Given the description of an element on the screen output the (x, y) to click on. 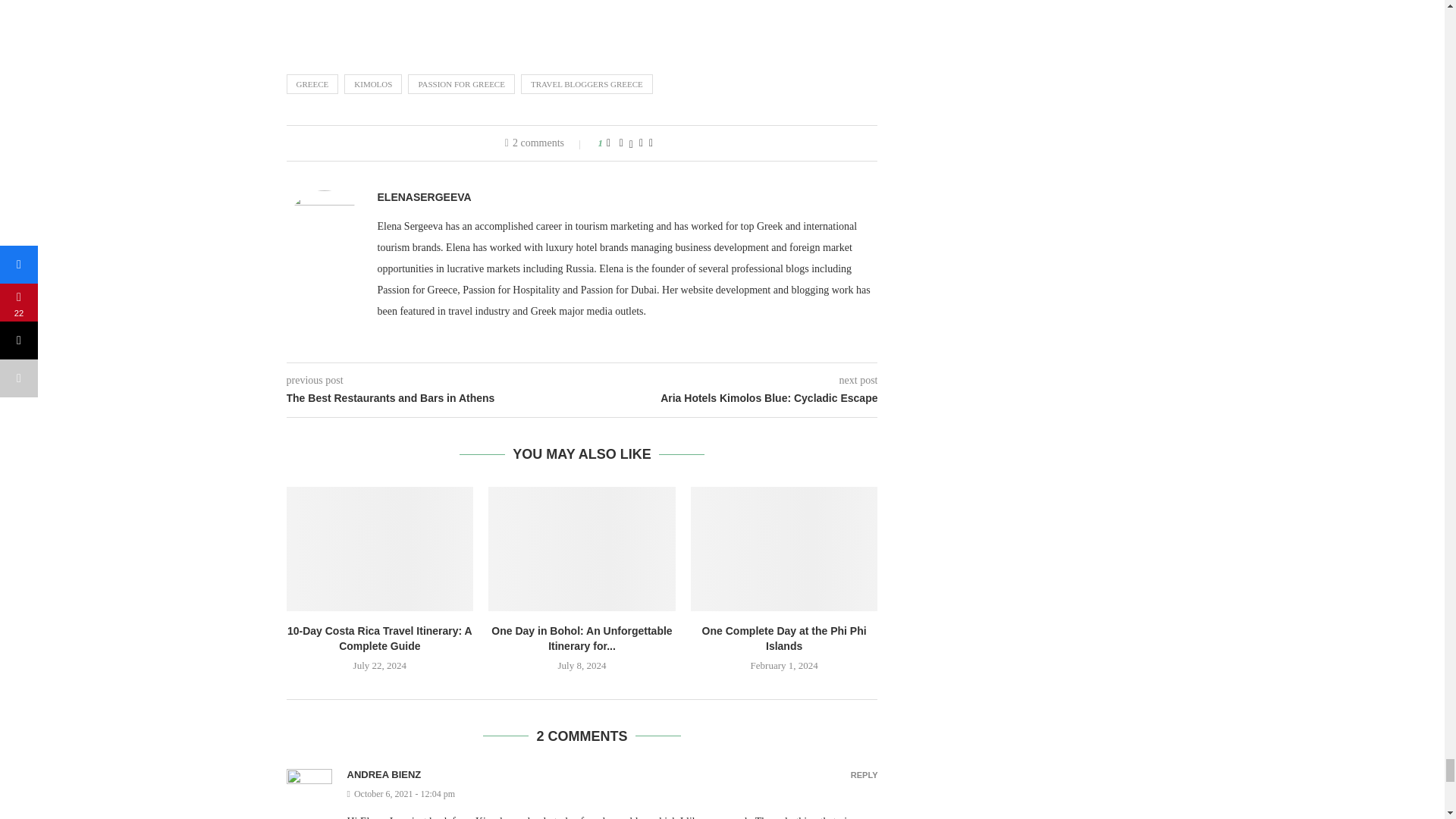
One Complete Day at the Phi Phi Islands (783, 548)
Wednesday, October 6, 2021, 12:04 pm (612, 794)
10-Day Costa Rica Travel Itinerary: A Complete Guide (380, 548)
Author ElenaSergeeva (424, 197)
One Day in Bohol: An Unforgettable Itinerary for Adventure (581, 548)
